Given the description of an element on the screen output the (x, y) to click on. 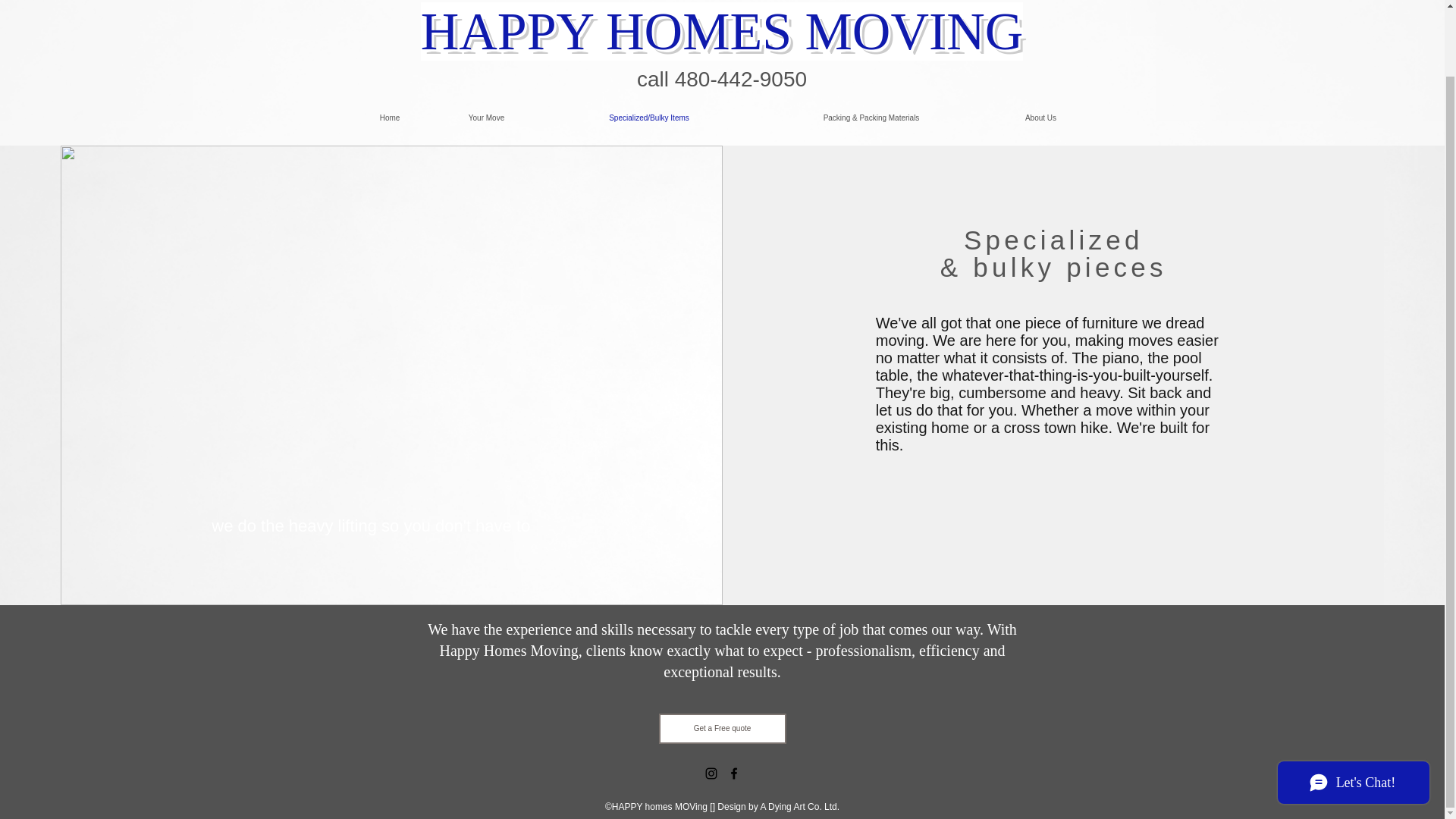
About Us (1040, 117)
Home (389, 117)
call 480-442-9050 (721, 78)
A Dying Art Co. Ltd. (800, 806)
Get a Free quote (722, 728)
